Given the description of an element on the screen output the (x, y) to click on. 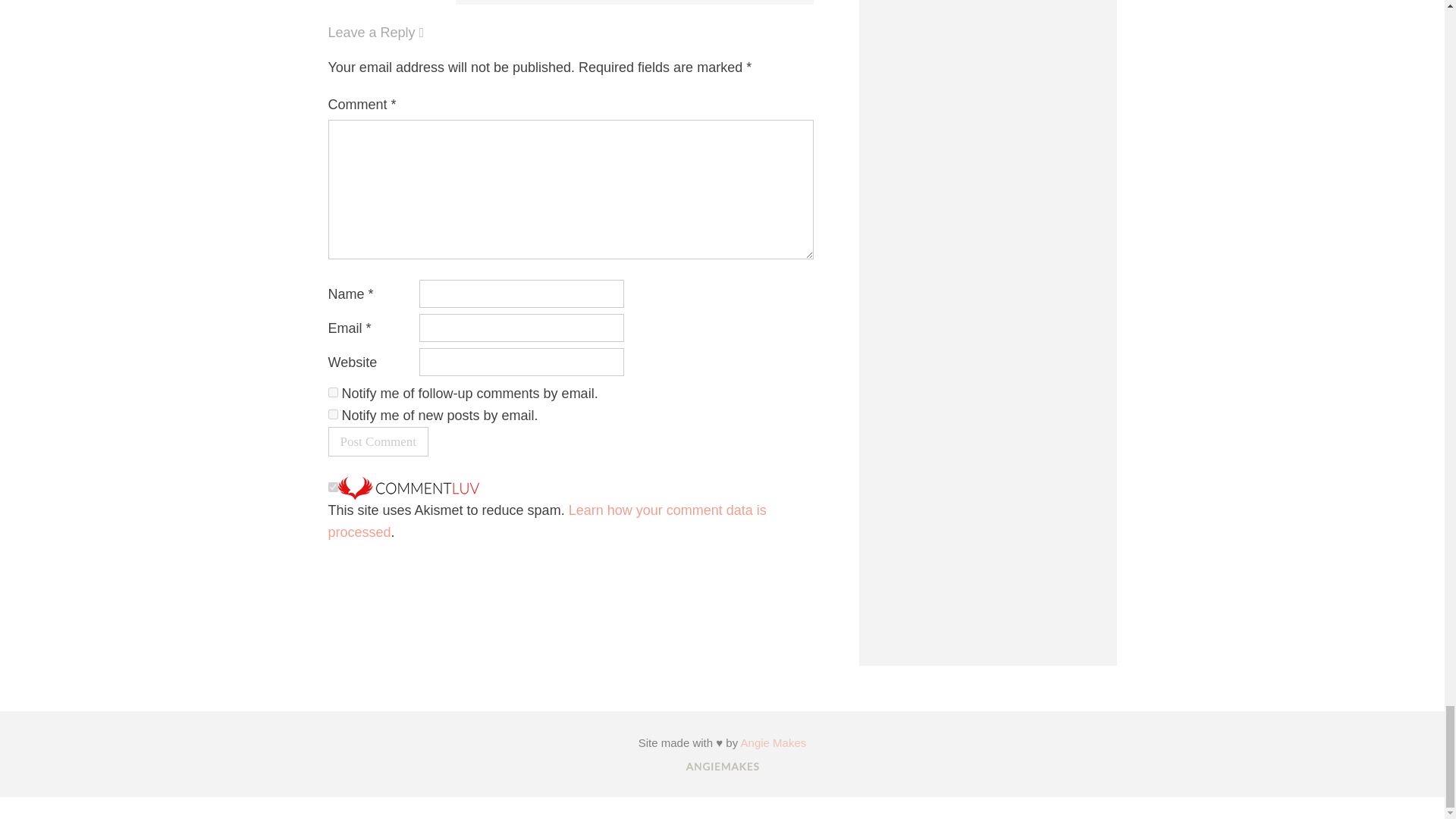
subscribe (332, 392)
on (332, 487)
Post Comment (377, 441)
subscribe (332, 414)
